Given the description of an element on the screen output the (x, y) to click on. 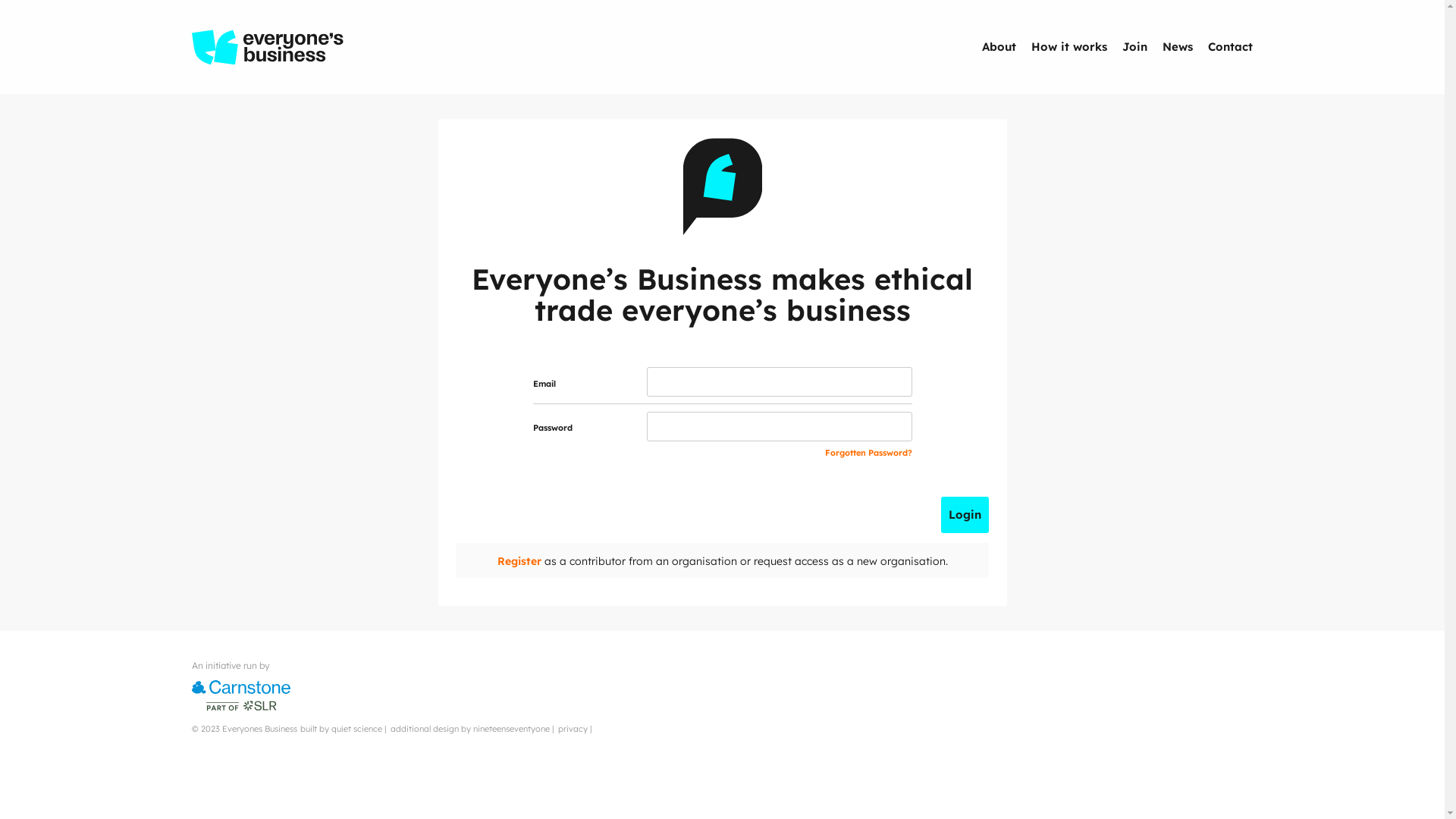
quiet science Element type: text (356, 728)
Carnstone Partners Ltd Element type: hover (240, 693)
Register Element type: text (519, 560)
Contact Element type: text (1230, 46)
About Element type: text (998, 46)
How it works Element type: text (1068, 46)
Forgotten Password? Element type: text (868, 452)
Toggle Offline Mode Element type: hover (192, 659)
privacy Element type: text (572, 728)
Join Element type: text (1133, 46)
Login Element type: text (964, 514)
nineteenseventyone Element type: text (511, 728)
News Element type: text (1177, 46)
